Given the description of an element on the screen output the (x, y) to click on. 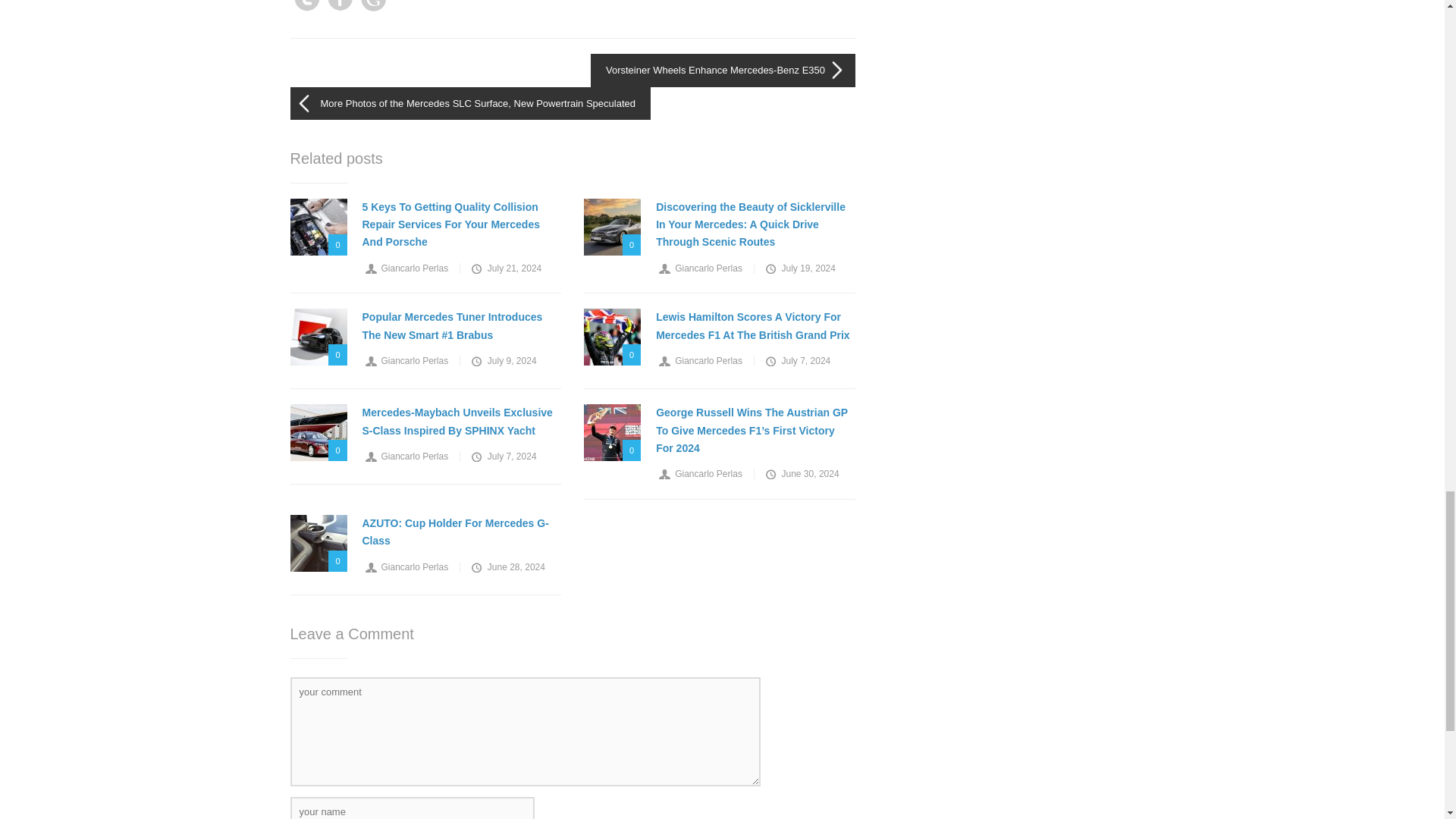
2:39 am (798, 267)
8:30 am (504, 267)
